Given the description of an element on the screen output the (x, y) to click on. 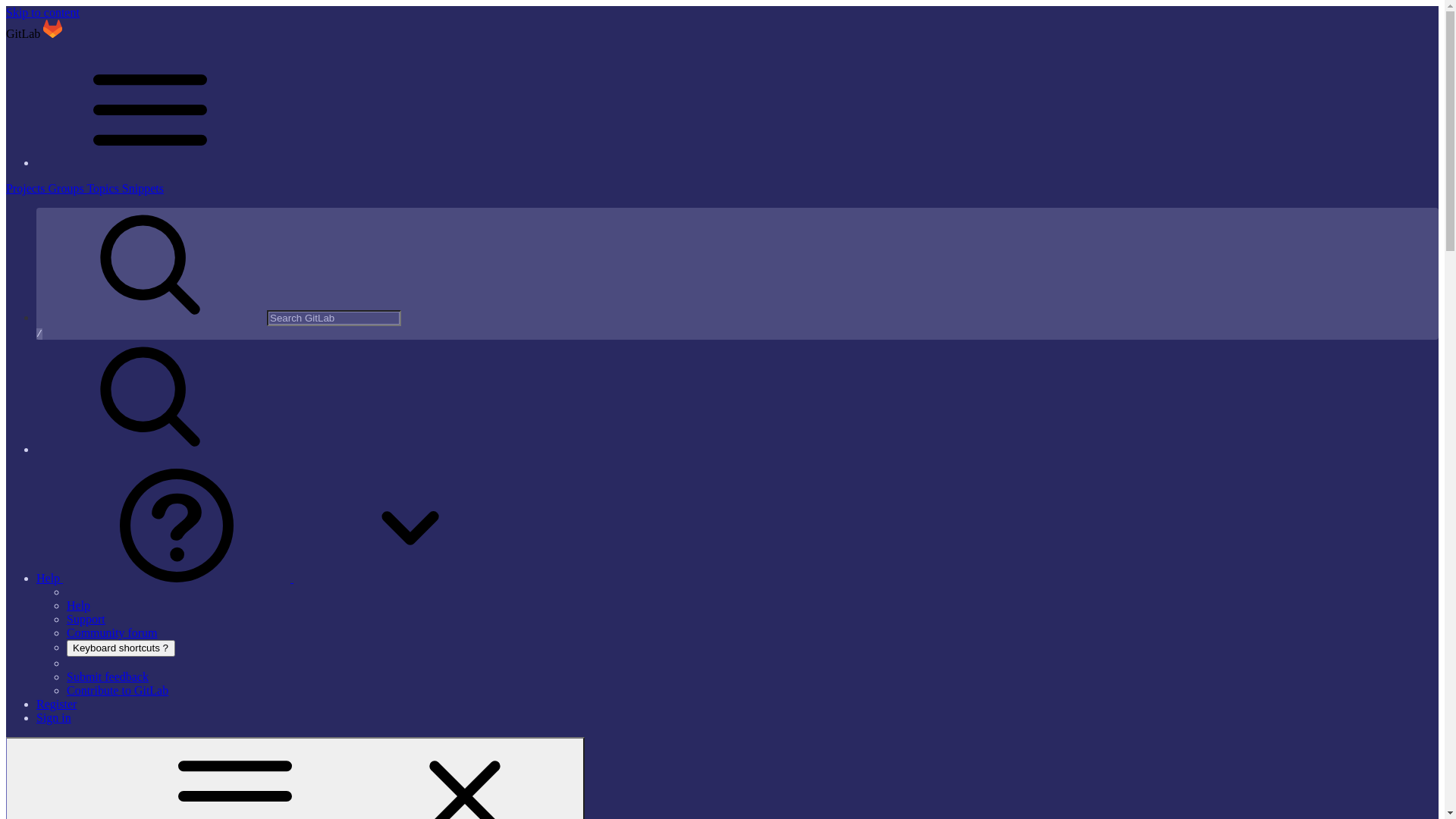
Support Element type: text (85, 618)
Snippets Element type: text (142, 188)
Register Element type: text (56, 703)
Groups Element type: text (67, 188)
Community forum Element type: text (111, 632)
Keyboard shortcuts ? Element type: text (120, 648)
Search Element type: hover (149, 448)
Projects Element type: text (27, 188)
Help Element type: text (280, 577)
Topics Element type: text (103, 188)
Homepage Element type: hover (52, 33)
Skip to content Element type: text (42, 12)
Contribute to GitLab Element type: text (117, 690)
Help Element type: text (78, 605)
Sign in Element type: text (53, 717)
Submit feedback Element type: text (107, 676)
